Given the description of an element on the screen output the (x, y) to click on. 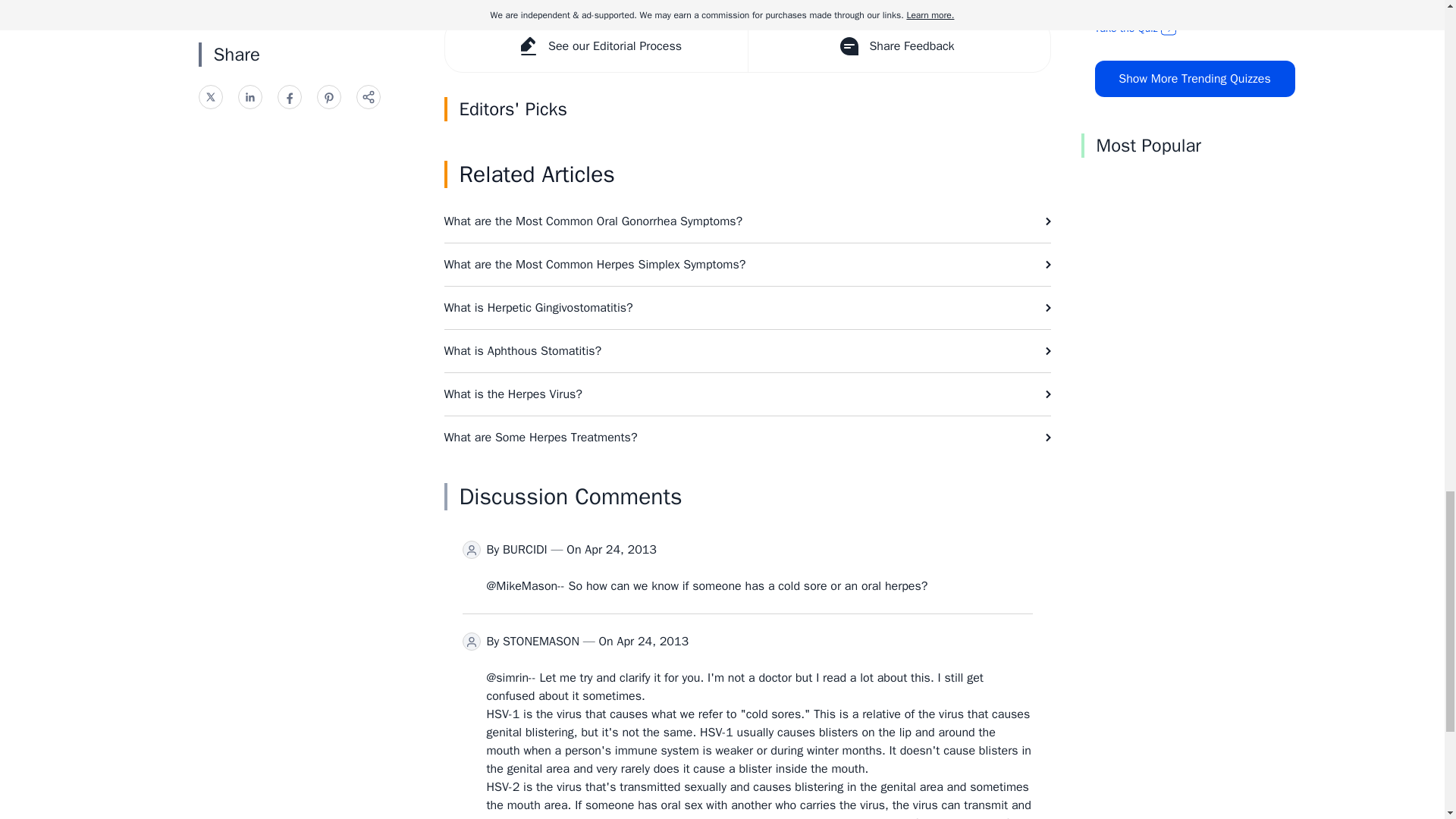
What are the Most Common Oral Gonorrhea Symptoms? (747, 220)
What is Herpetic Gingivostomatitis? (747, 307)
What is the Herpes Virus? (747, 394)
See our Editorial Process (595, 46)
Share Feedback (898, 46)
What are the Most Common Herpes Simplex Symptoms? (747, 264)
What is Aphthous Stomatitis? (747, 351)
What are Some Herpes Treatments? (747, 437)
